Given the description of an element on the screen output the (x, y) to click on. 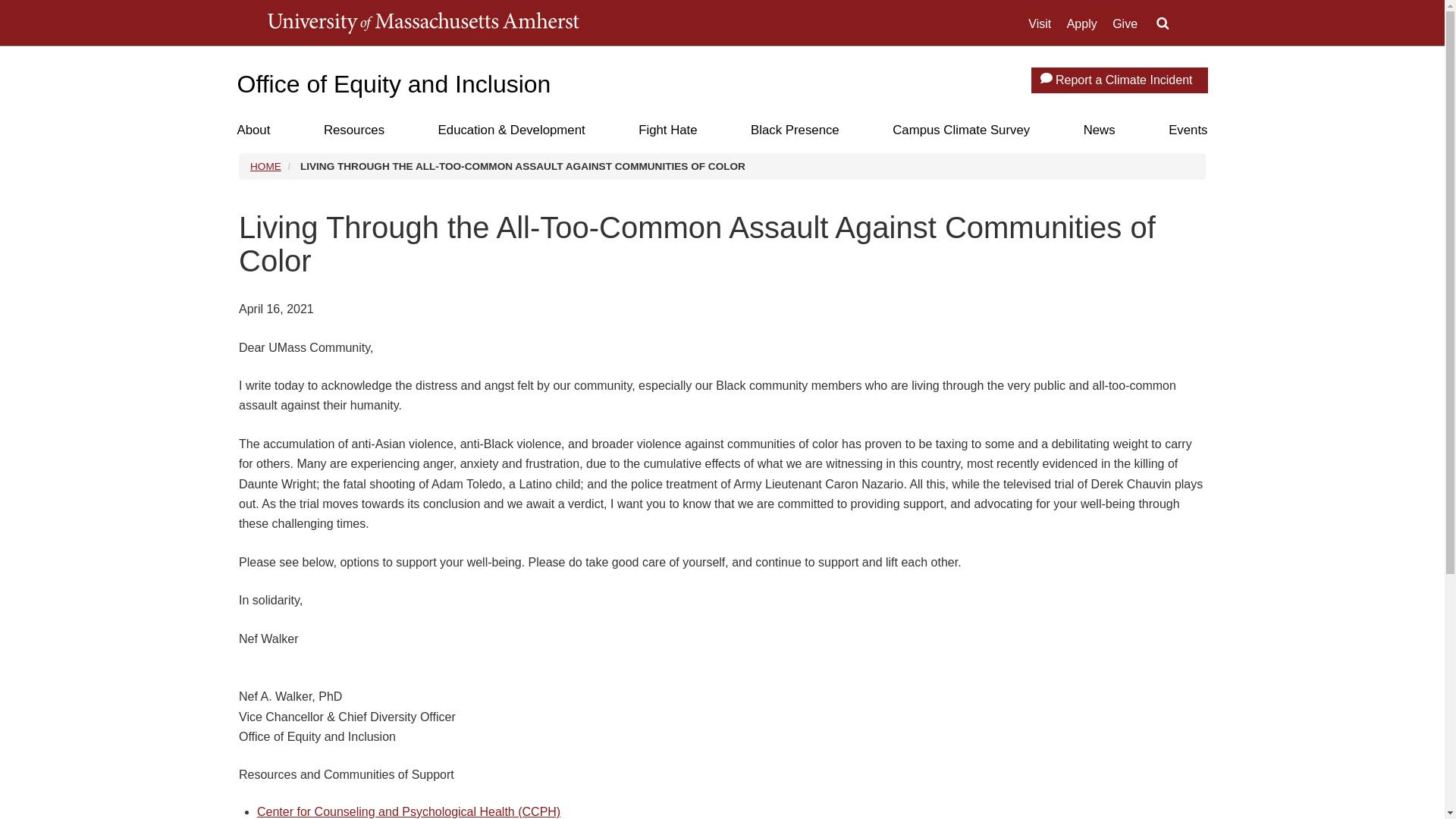
Search UMass.edu (1161, 23)
Resources (353, 130)
Report (1046, 78)
HOME (265, 165)
Apply (1082, 24)
News (1099, 130)
Visit (1039, 24)
Office of Equity and Inclusion (392, 83)
The University of Massachusetts Amherst (422, 22)
Campus Climate Survey (960, 130)
Fight Hate (668, 130)
UMass Amherst (422, 22)
Events (1188, 130)
About (252, 130)
